Given the description of an element on the screen output the (x, y) to click on. 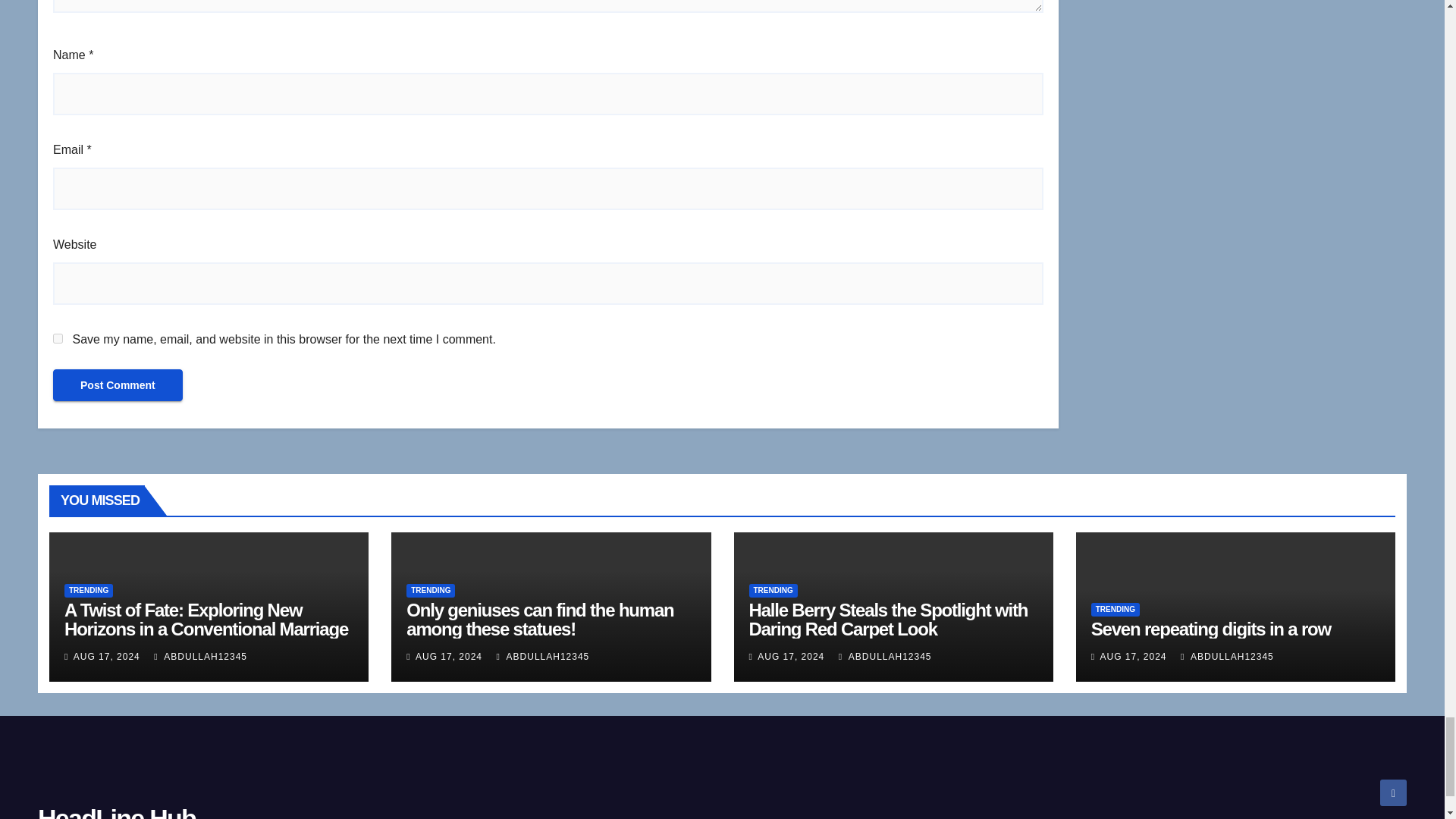
yes (57, 338)
Post Comment (117, 385)
